Given the description of an element on the screen output the (x, y) to click on. 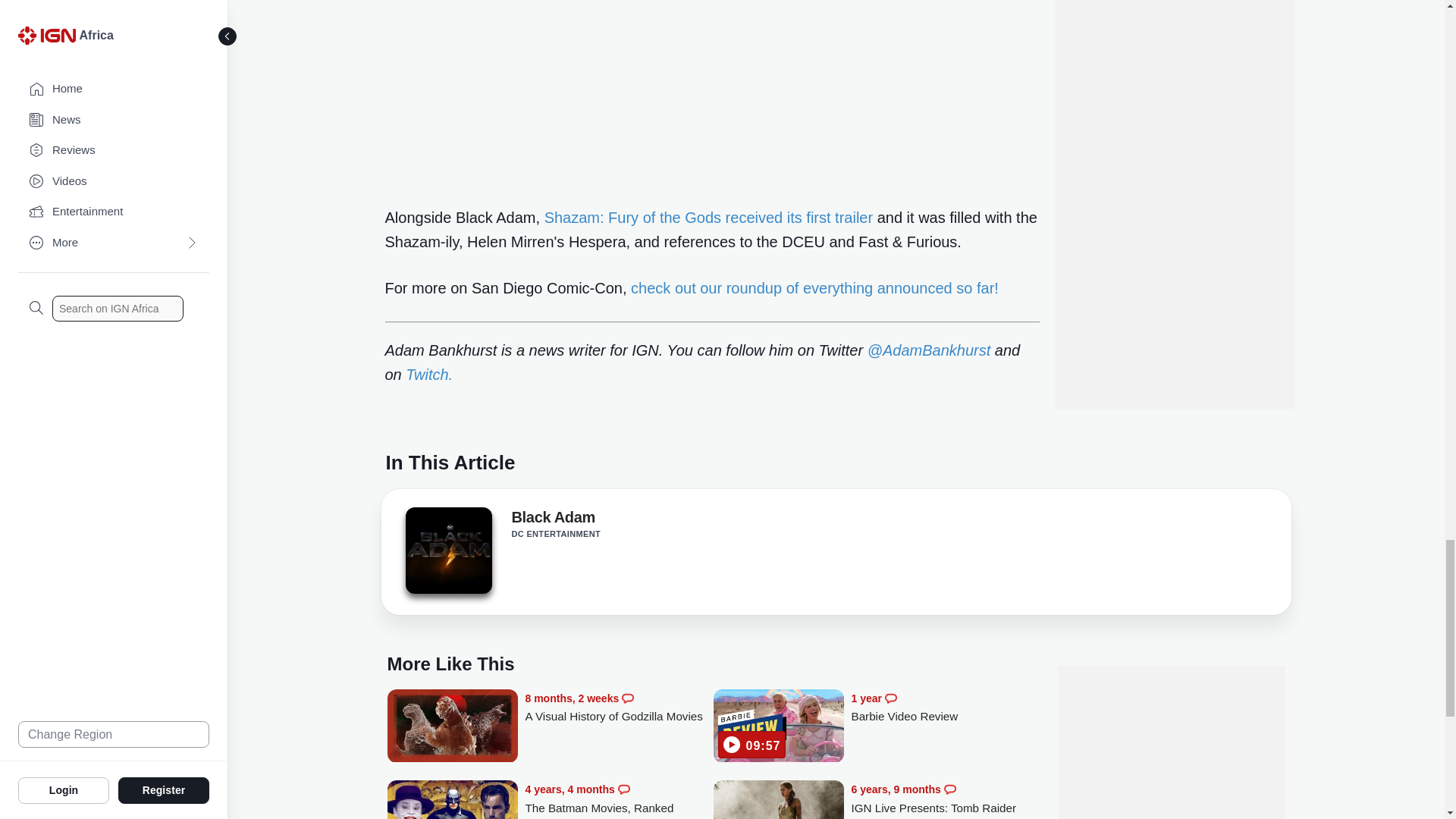
A Visual History of Godzilla Movies (451, 727)
Comments (627, 698)
A Visual History of Godzilla Movies (618, 707)
Black Adam (448, 554)
Black Adam (448, 549)
Black Adam (552, 519)
The Batman Movies, Ranked (618, 798)
Comments (623, 788)
Barbie Video Review (944, 707)
Barbie Video Review (778, 727)
Comments (949, 788)
The Batman Movies, Ranked (451, 799)
Comments (890, 698)
